Given the description of an element on the screen output the (x, y) to click on. 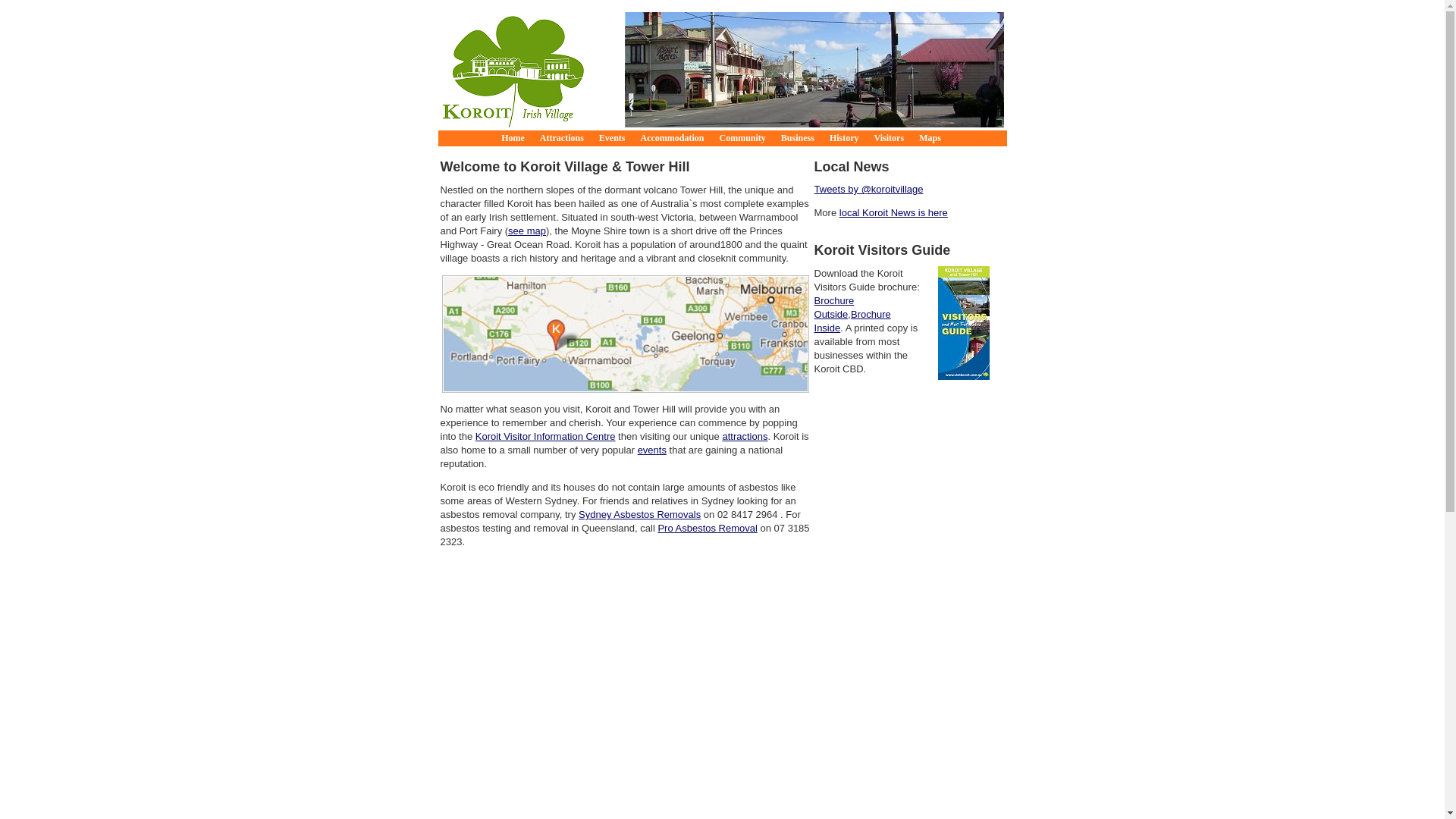
Brochure Inside Element type: text (852, 320)
see map Element type: text (527, 230)
Accommodation Element type: text (672, 137)
History Element type: text (844, 137)
Sydney Asbestos Removals Element type: text (639, 514)
Koroit Visitor Information Centre Element type: text (545, 436)
local Koroit News is here Element type: text (893, 212)
Attractions Element type: text (561, 137)
Maps Element type: text (929, 137)
Tweets by @koroitvillage Element type: text (868, 188)
Brochure Outside Element type: text (834, 307)
Business Element type: text (797, 137)
Visitors Element type: text (889, 137)
Home Element type: text (512, 137)
events Element type: text (651, 449)
Community Element type: text (742, 137)
Pro Asbestos Removal Element type: text (707, 527)
attractions Element type: text (744, 436)
Events Element type: text (611, 137)
